Given the description of an element on the screen output the (x, y) to click on. 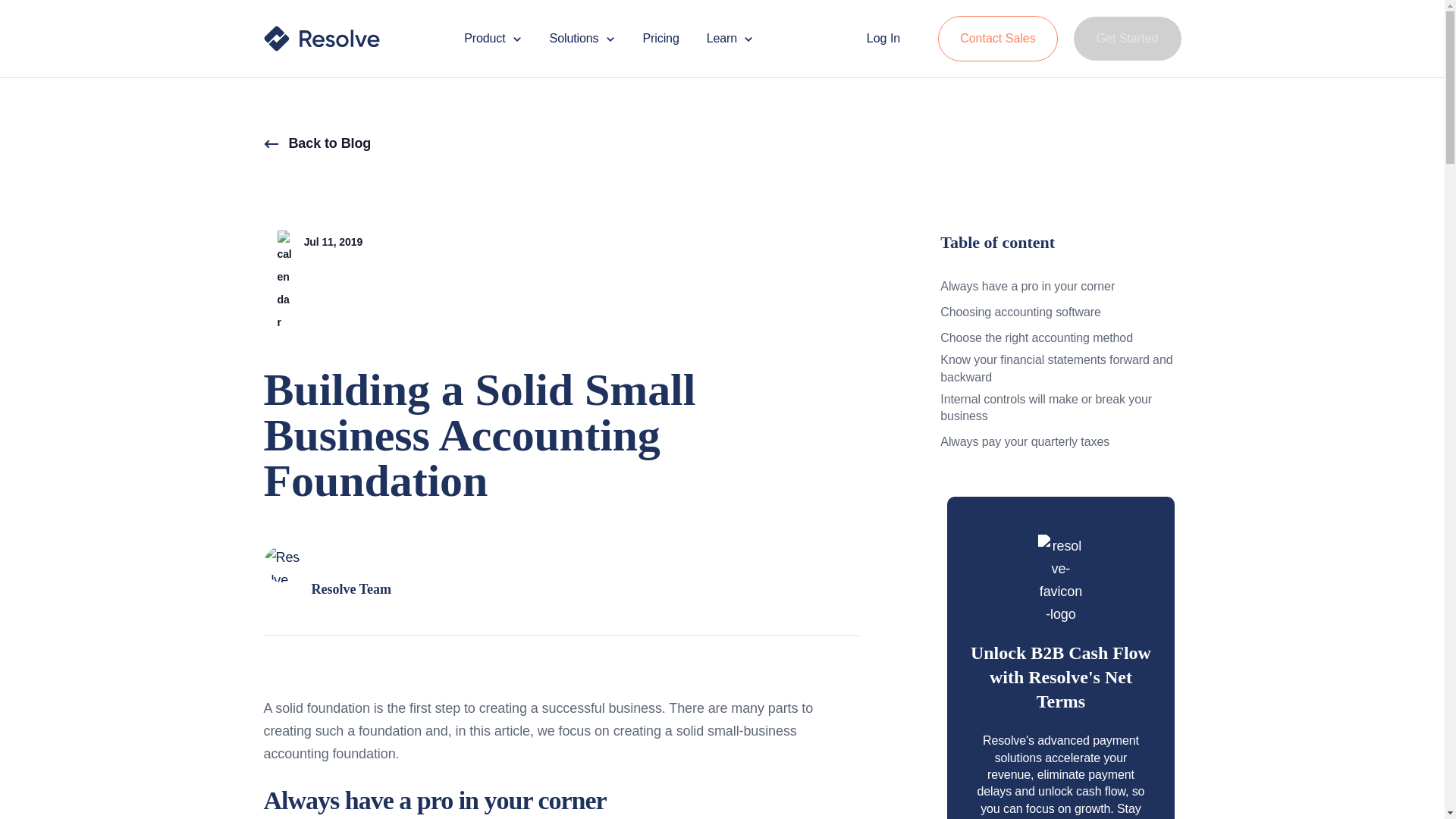
Learn (730, 38)
Contact Sales (999, 37)
Log In (885, 37)
Solutions (581, 38)
Log In (882, 38)
resolve-logo (321, 38)
Pricing (660, 38)
Contact Sales (997, 38)
Product (492, 38)
